Given the description of an element on the screen output the (x, y) to click on. 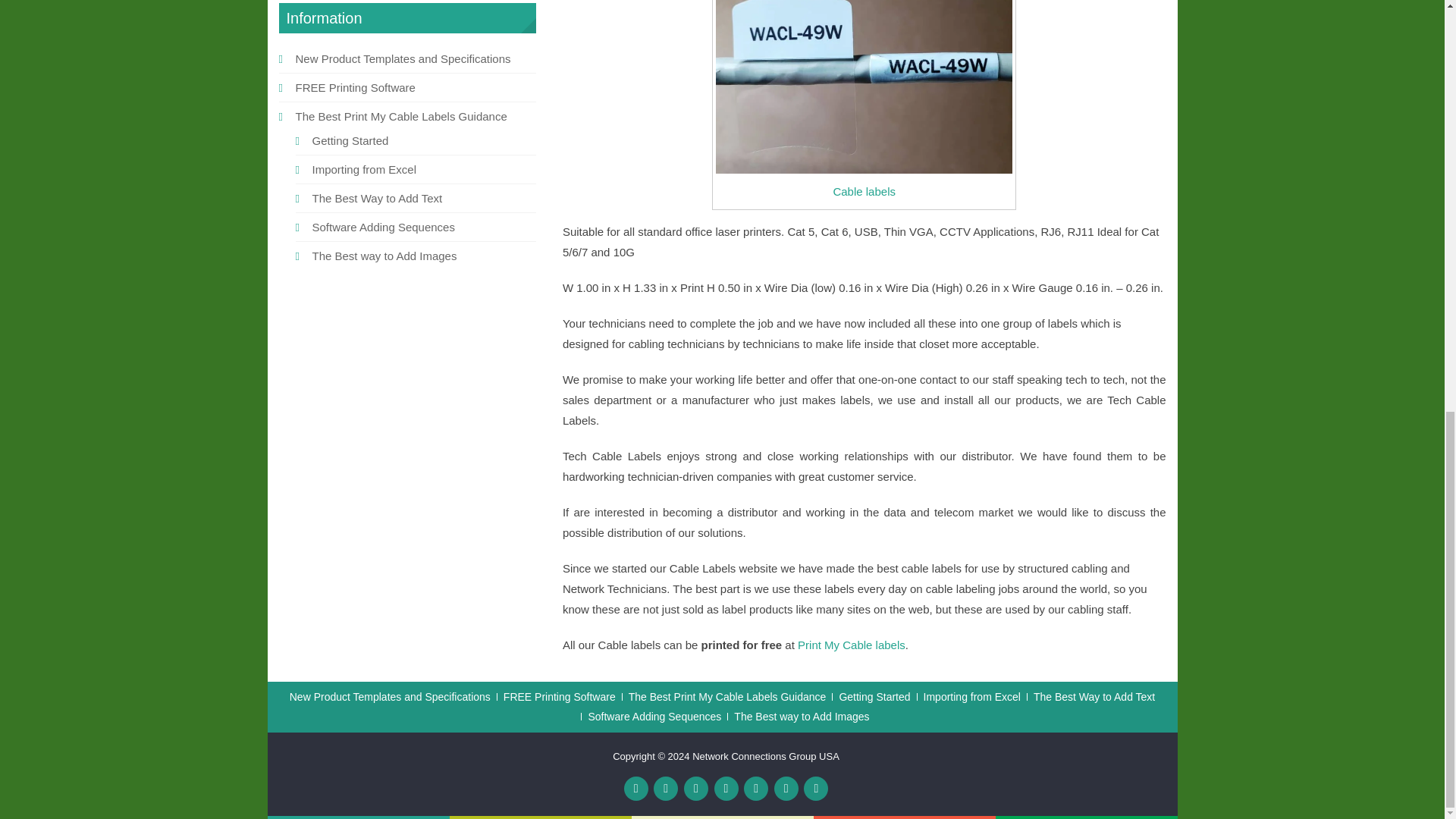
New Product Templates and Specifications (389, 696)
instagram (815, 788)
Youtube (695, 788)
FREE Printing Software (354, 87)
Linkedin (756, 788)
Print My Cable labels (851, 644)
The Best way to Add Images (385, 255)
Cable labels (863, 191)
New Product Templates and Specifications (403, 58)
Software Adding Sequences (383, 226)
Facebook (635, 788)
Twitter (665, 788)
The Best Print My Cable Labels Guidance (400, 115)
The Best Way to Add Text (377, 197)
Getting Started (350, 140)
